Given the description of an element on the screen output the (x, y) to click on. 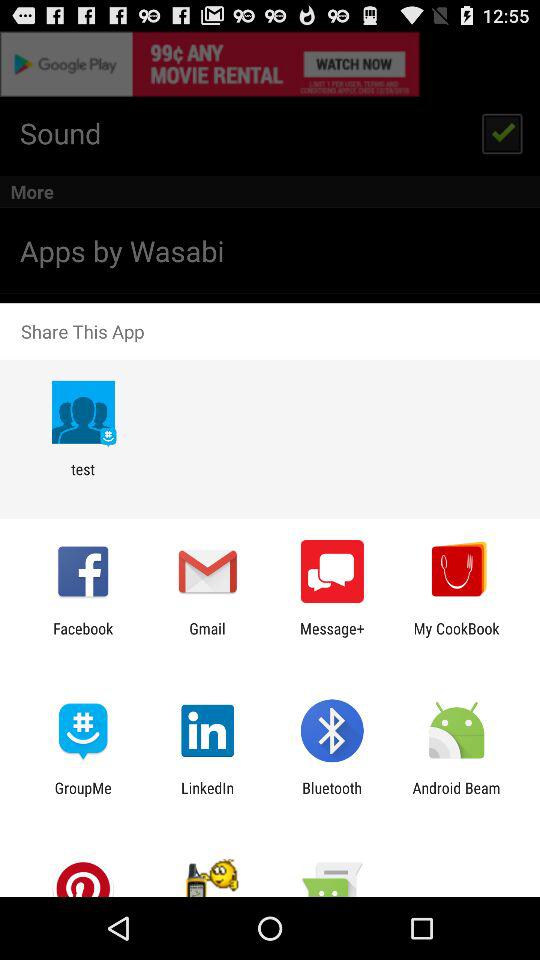
select the icon to the left of my cookbook item (332, 637)
